Given the description of an element on the screen output the (x, y) to click on. 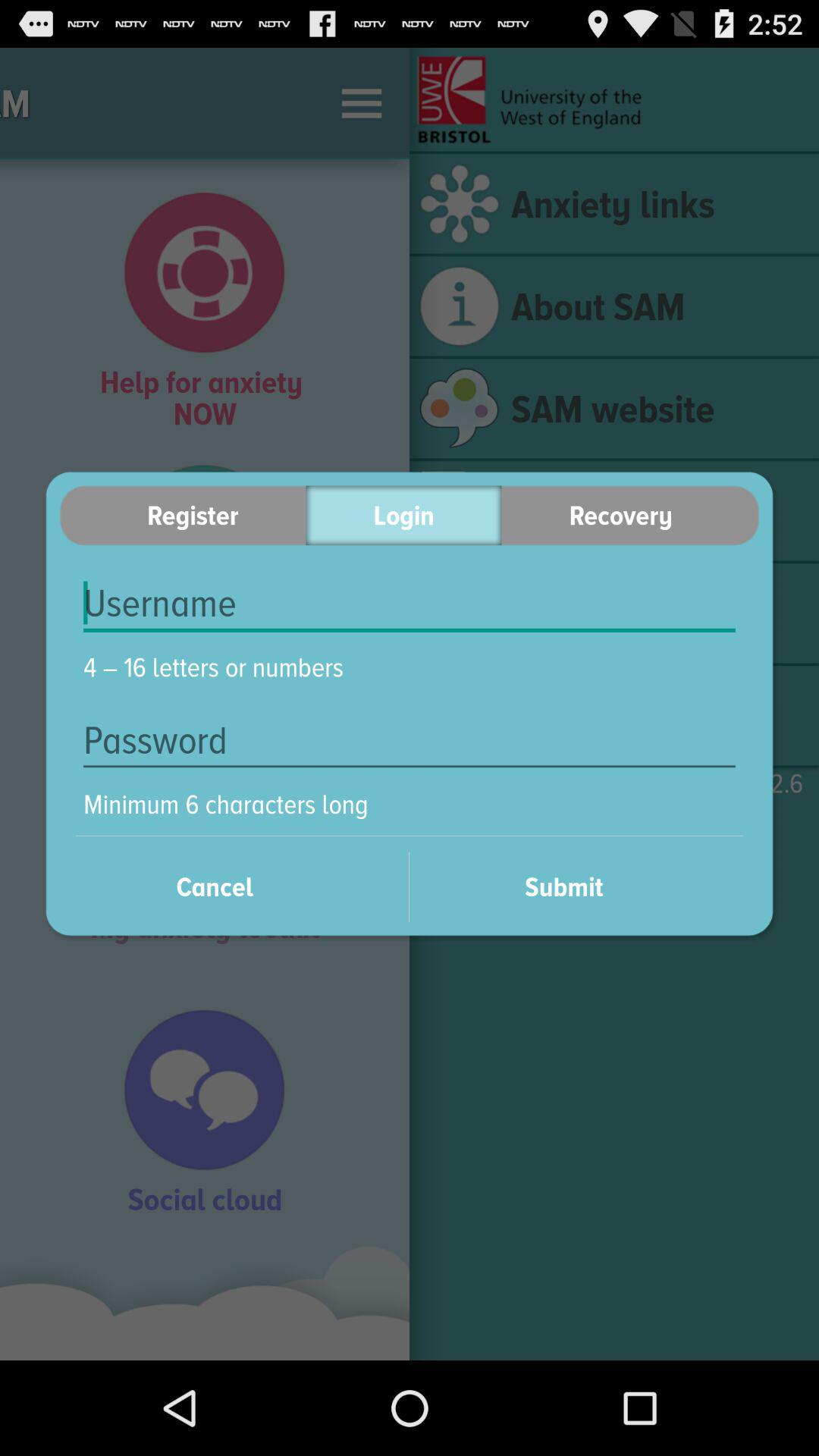
tap icon next to register item (403, 515)
